Given the description of an element on the screen output the (x, y) to click on. 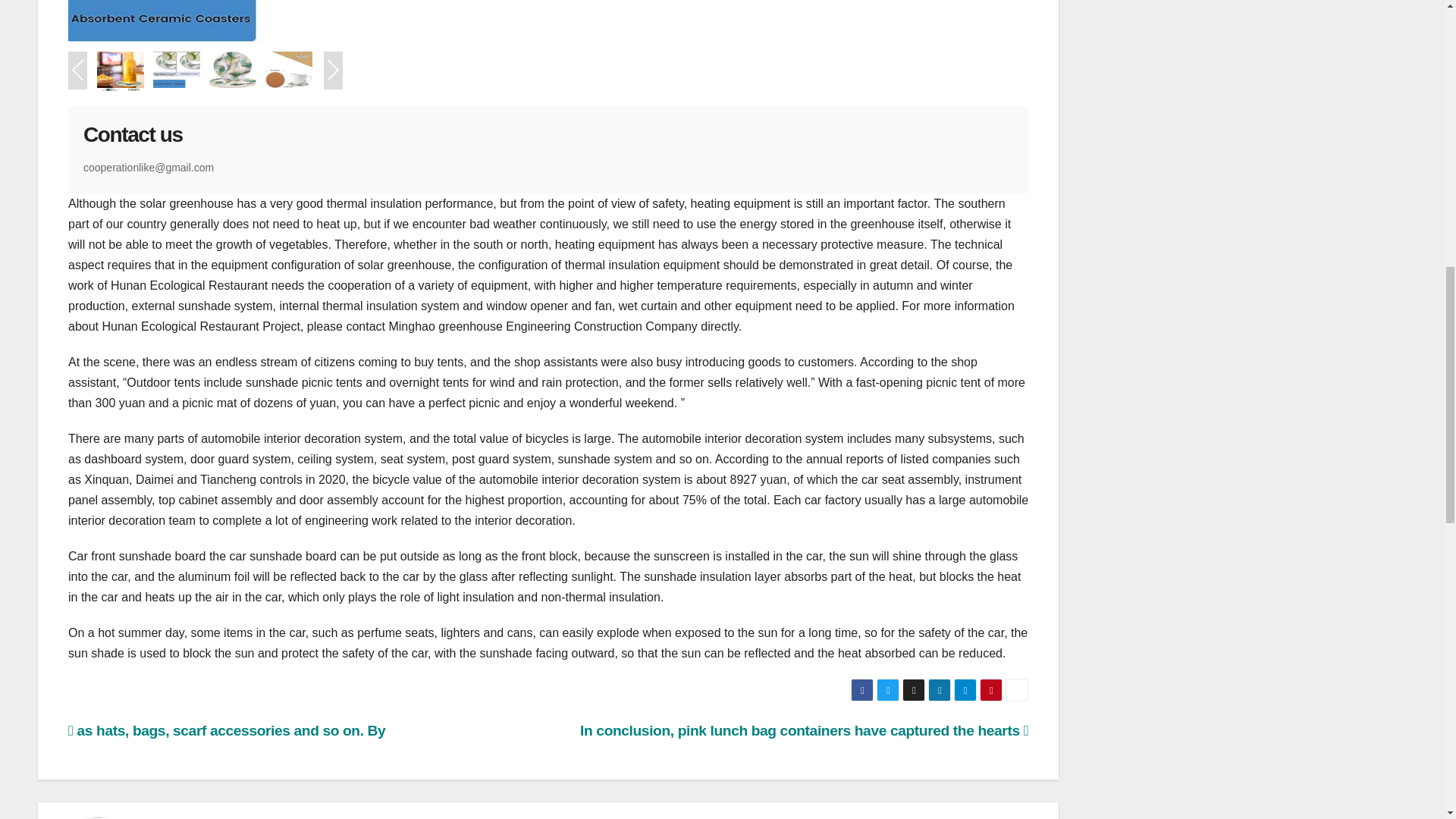
as hats, bags, scarf accessories and so on. By (226, 730)
